Given the description of an element on the screen output the (x, y) to click on. 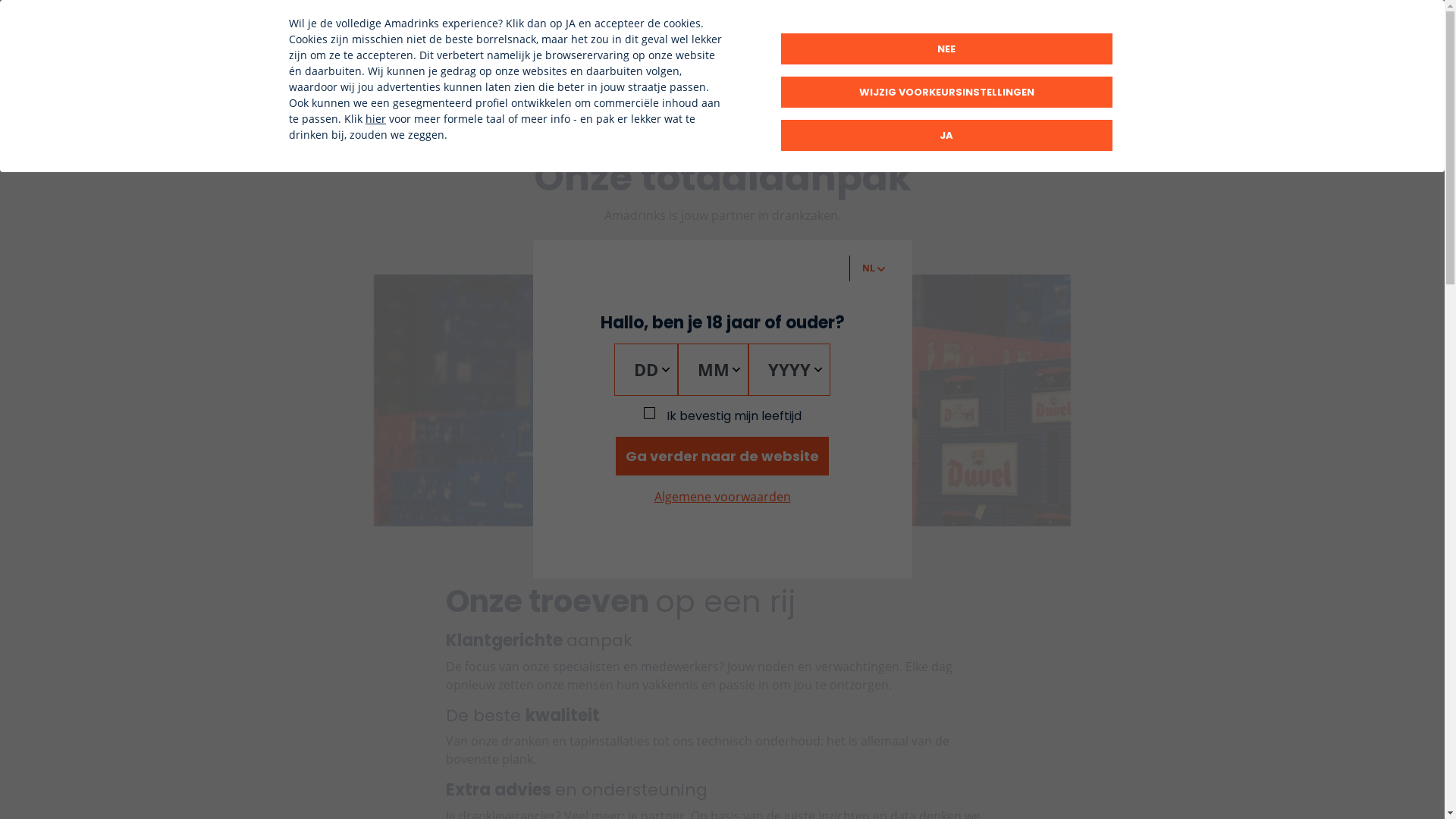
Overslaan en naar de inhoud gaan Element type: text (0, 0)
Online bestellen Element type: text (1001, 24)
JA Element type: text (946, 135)
WIJZIG VOORKEURSINSTELLINGEN Element type: text (946, 92)
NL Element type: text (1119, 24)
Ons netwerk Element type: text (907, 24)
Algemene voorwaarden Element type: text (721, 496)
Promoties Element type: text (942, 72)
Assortiment Element type: text (669, 72)
Home Element type: hover (399, 48)
Ga verder naar de website Element type: text (721, 455)
Onze klanten Element type: text (767, 24)
Onze totaalaanpak Element type: text (809, 72)
Home Element type: text (571, 72)
Over ons Element type: text (837, 24)
NL Element type: text (873, 268)
Contacteer ons Element type: text (1077, 67)
hier Element type: text (375, 118)
